Given the description of an element on the screen output the (x, y) to click on. 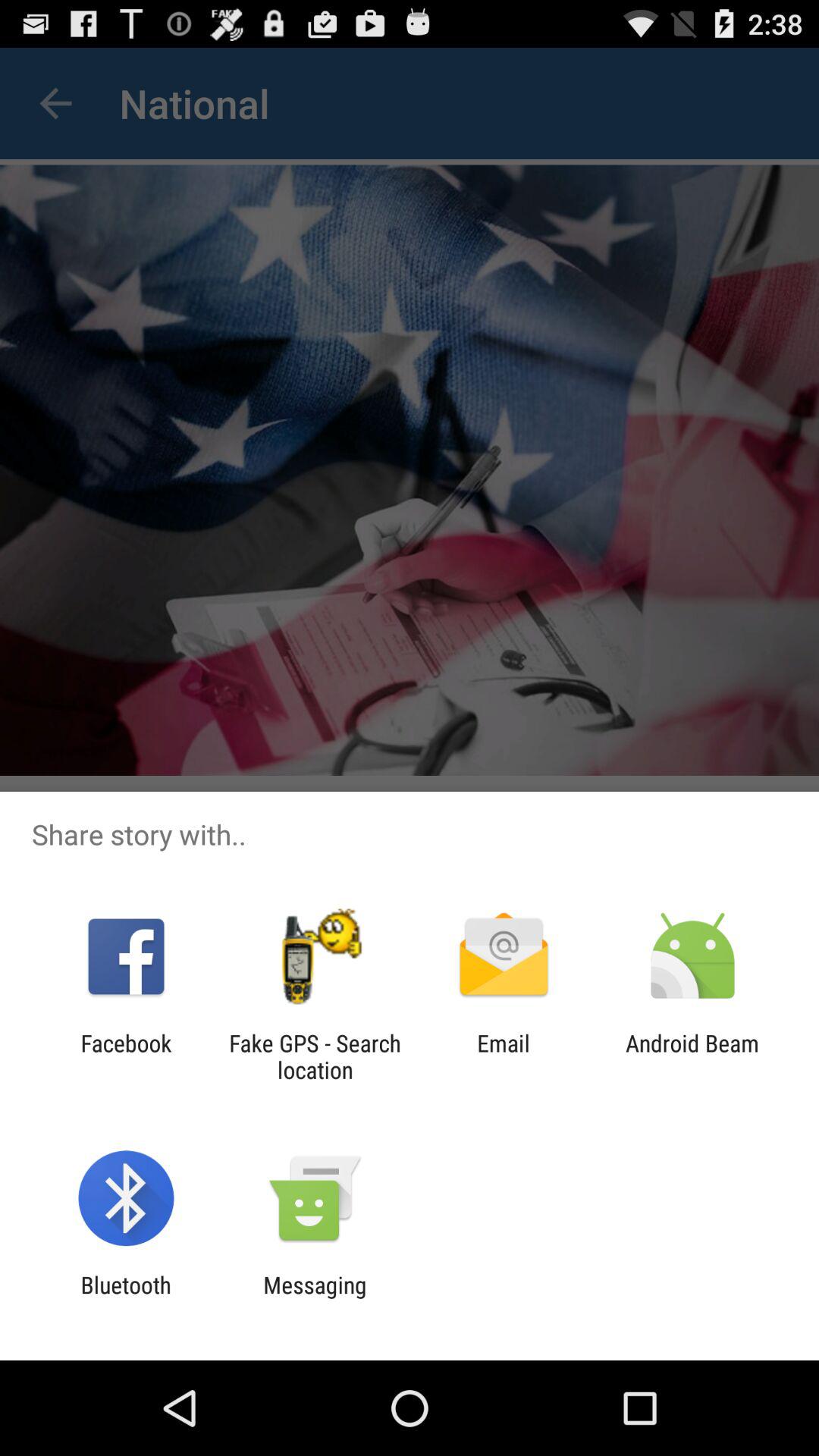
flip until messaging (314, 1298)
